Given the description of an element on the screen output the (x, y) to click on. 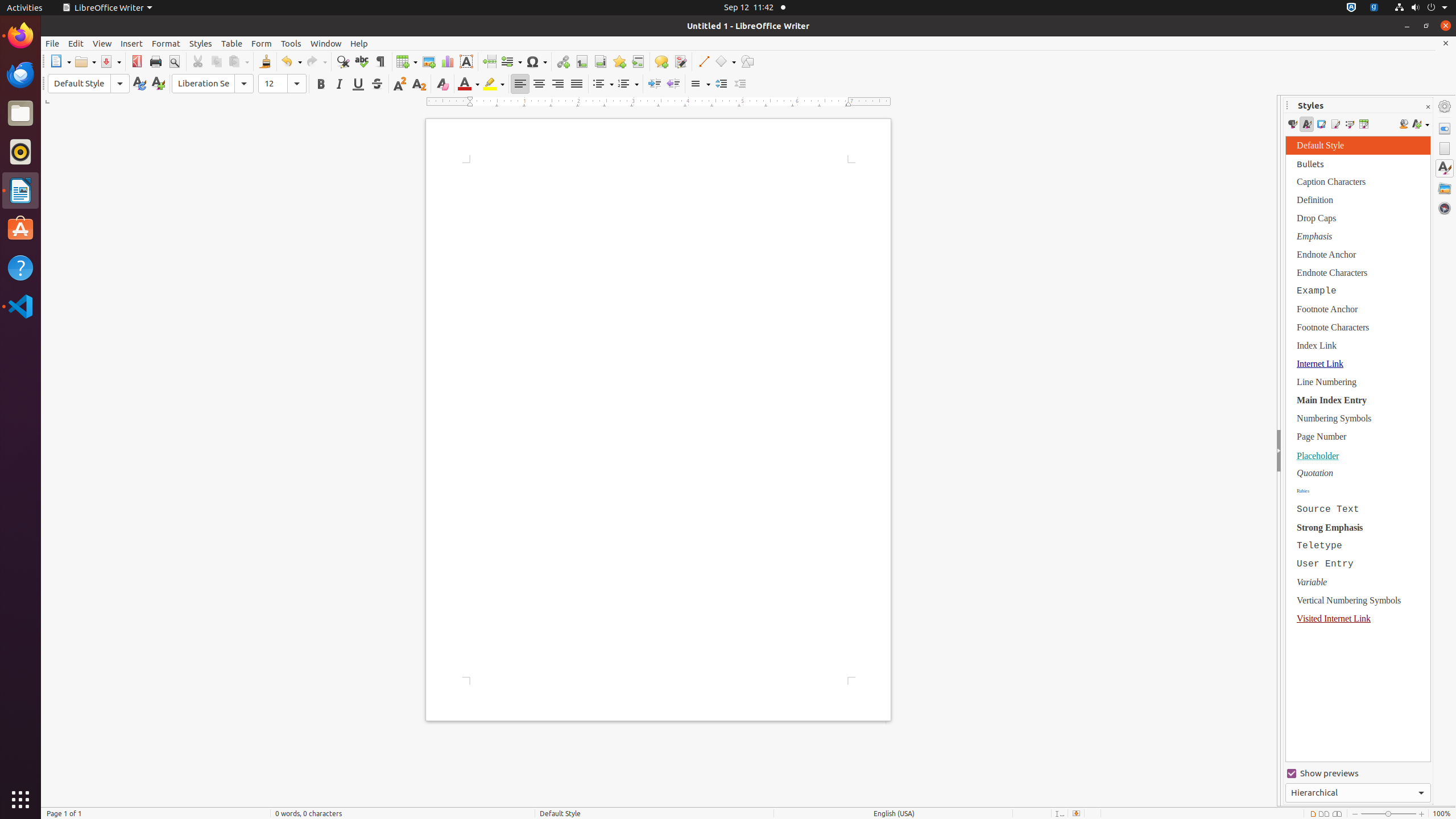
PDF Element type: push-button (136, 61)
Tools Element type: menu (290, 43)
Table Element type: menu (231, 43)
Update Element type: push-button (138, 83)
Character Styles Element type: push-button (1306, 123)
